Given the description of an element on the screen output the (x, y) to click on. 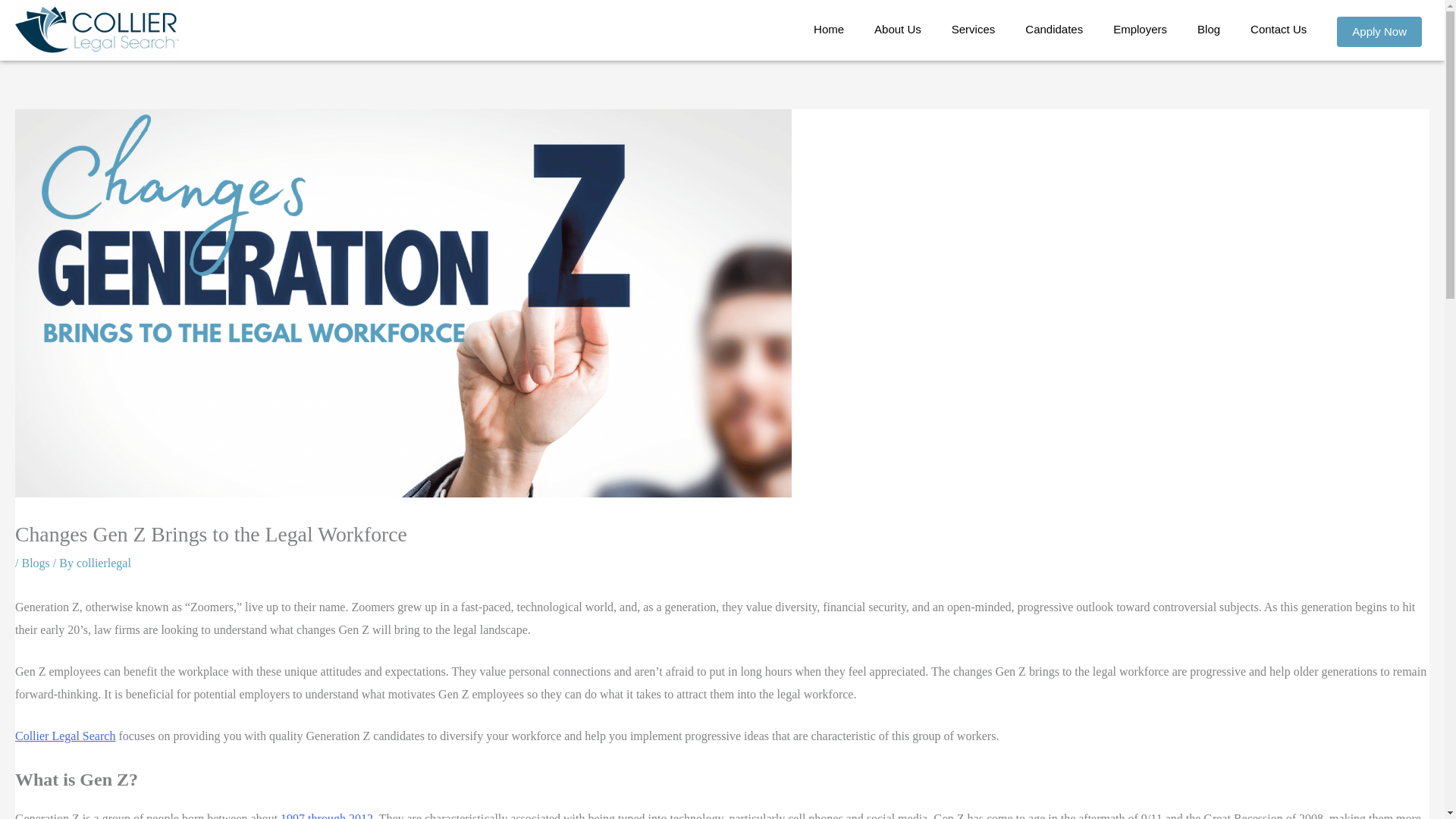
1997 through 2012 (326, 815)
Apply Now (1379, 31)
Blogs (35, 562)
Collier Legal Search (64, 735)
View all posts by collierlegal (104, 562)
Candidates (1054, 30)
Contact Us (1278, 30)
collierlegal (104, 562)
